Given the description of an element on the screen output the (x, y) to click on. 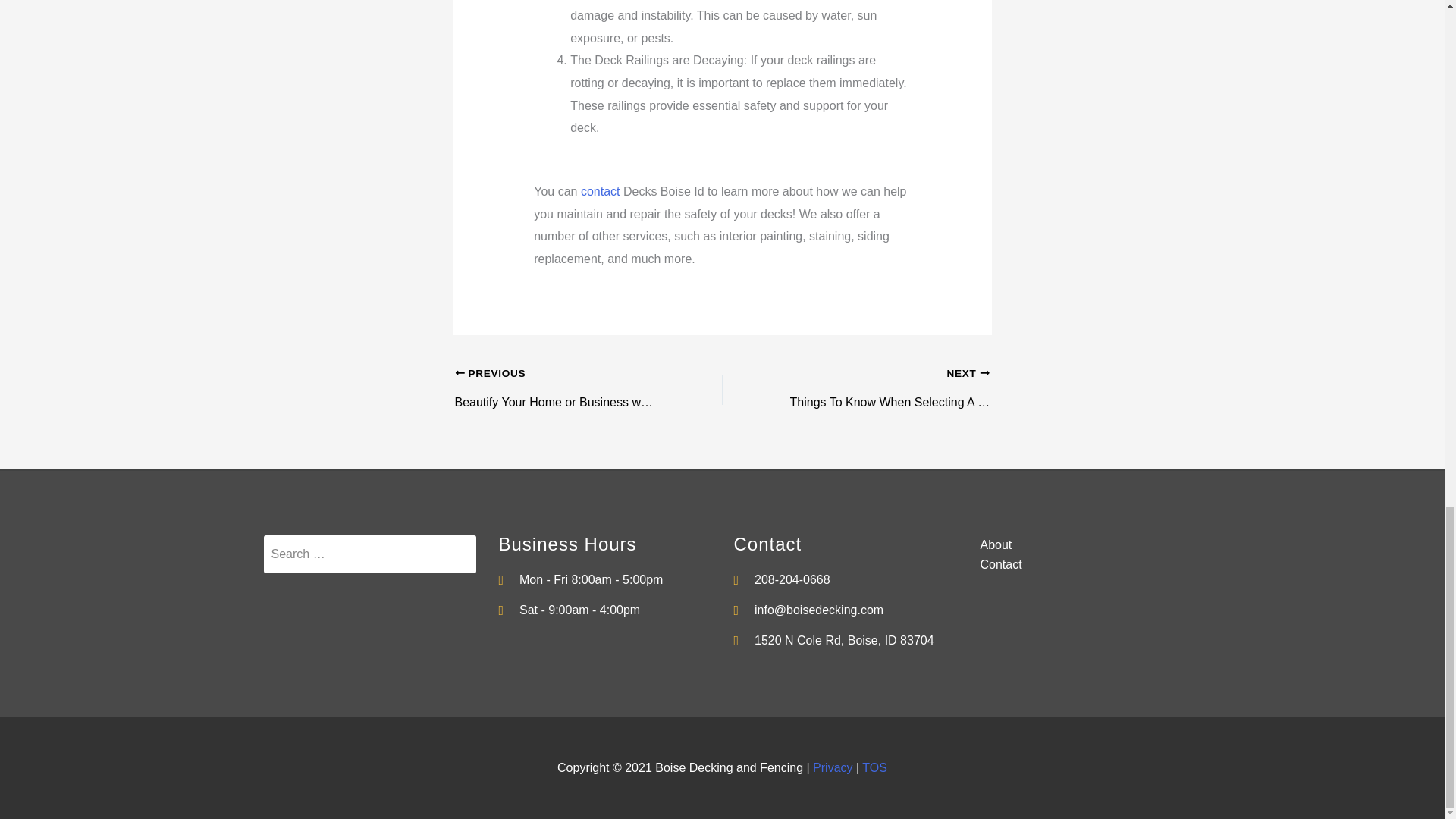
Privacy (831, 767)
208-204-0668 (839, 579)
contact (600, 191)
TOS (873, 767)
Beautify Your Home or Business with a New Fence in Boise Id (561, 375)
Contact (1074, 564)
About (1074, 545)
Search (369, 554)
